Given the description of an element on the screen output the (x, y) to click on. 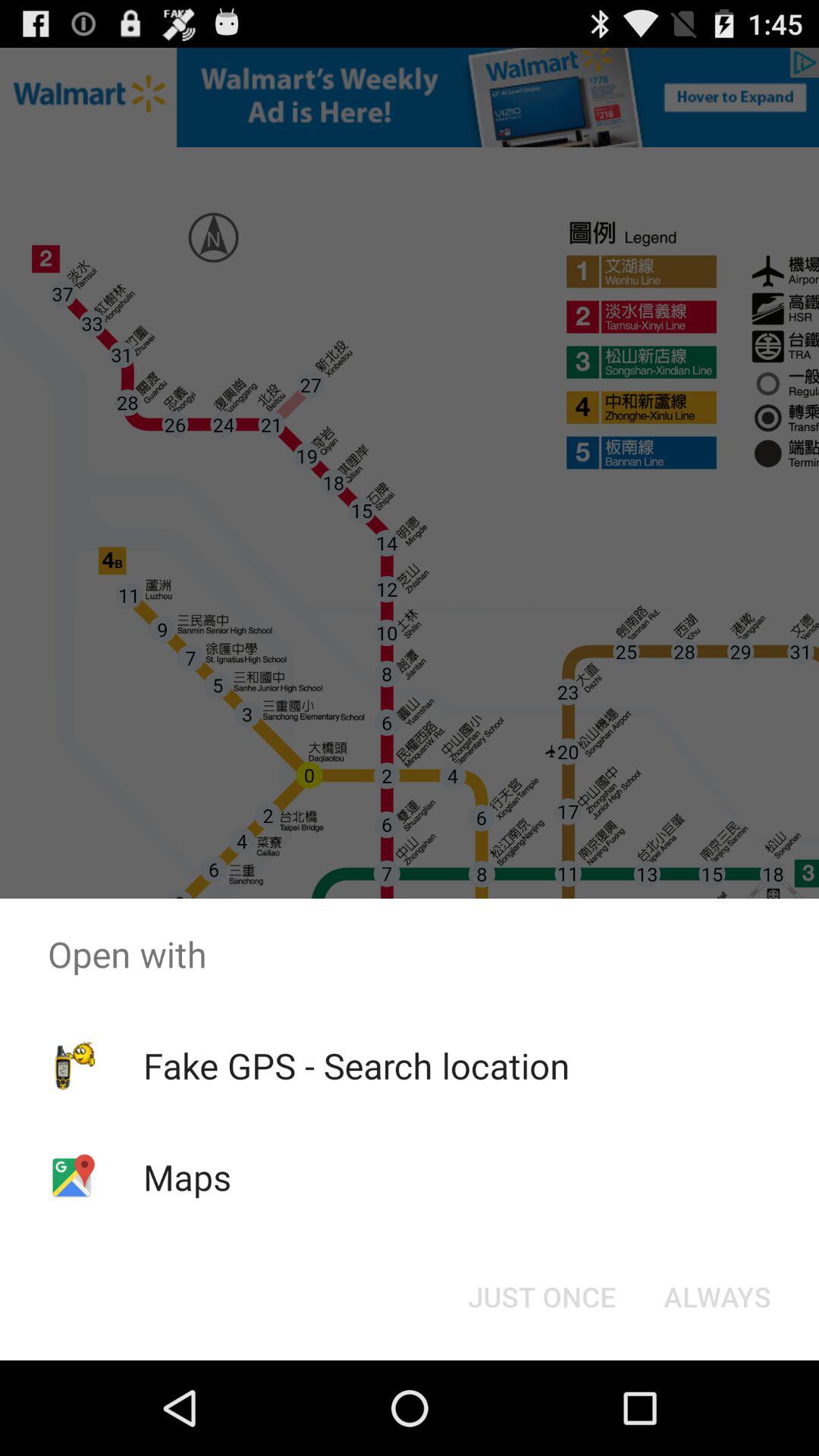
click icon to the left of the always icon (541, 1296)
